Given the description of an element on the screen output the (x, y) to click on. 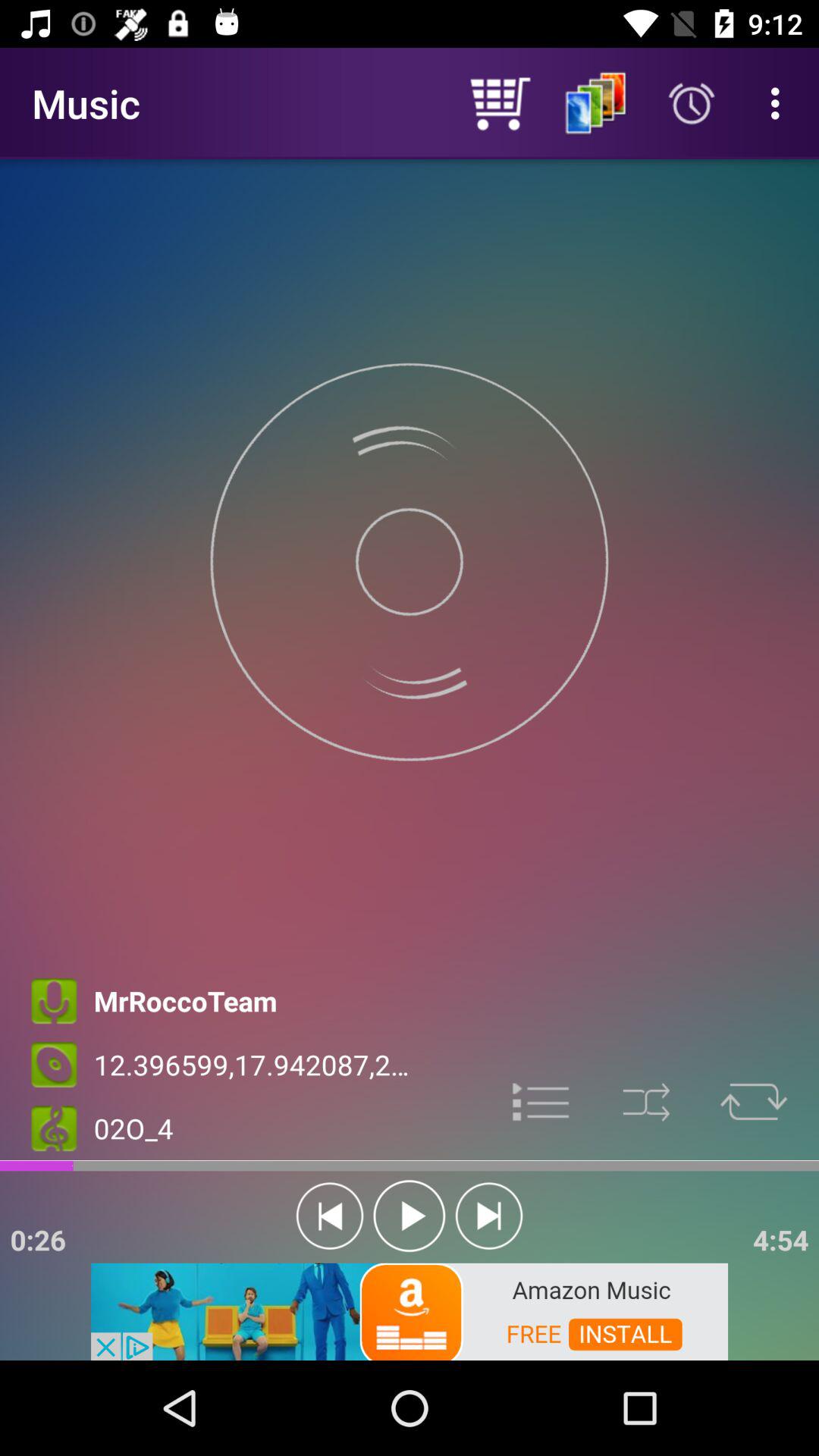
rewind track (329, 1215)
